Given the description of an element on the screen output the (x, y) to click on. 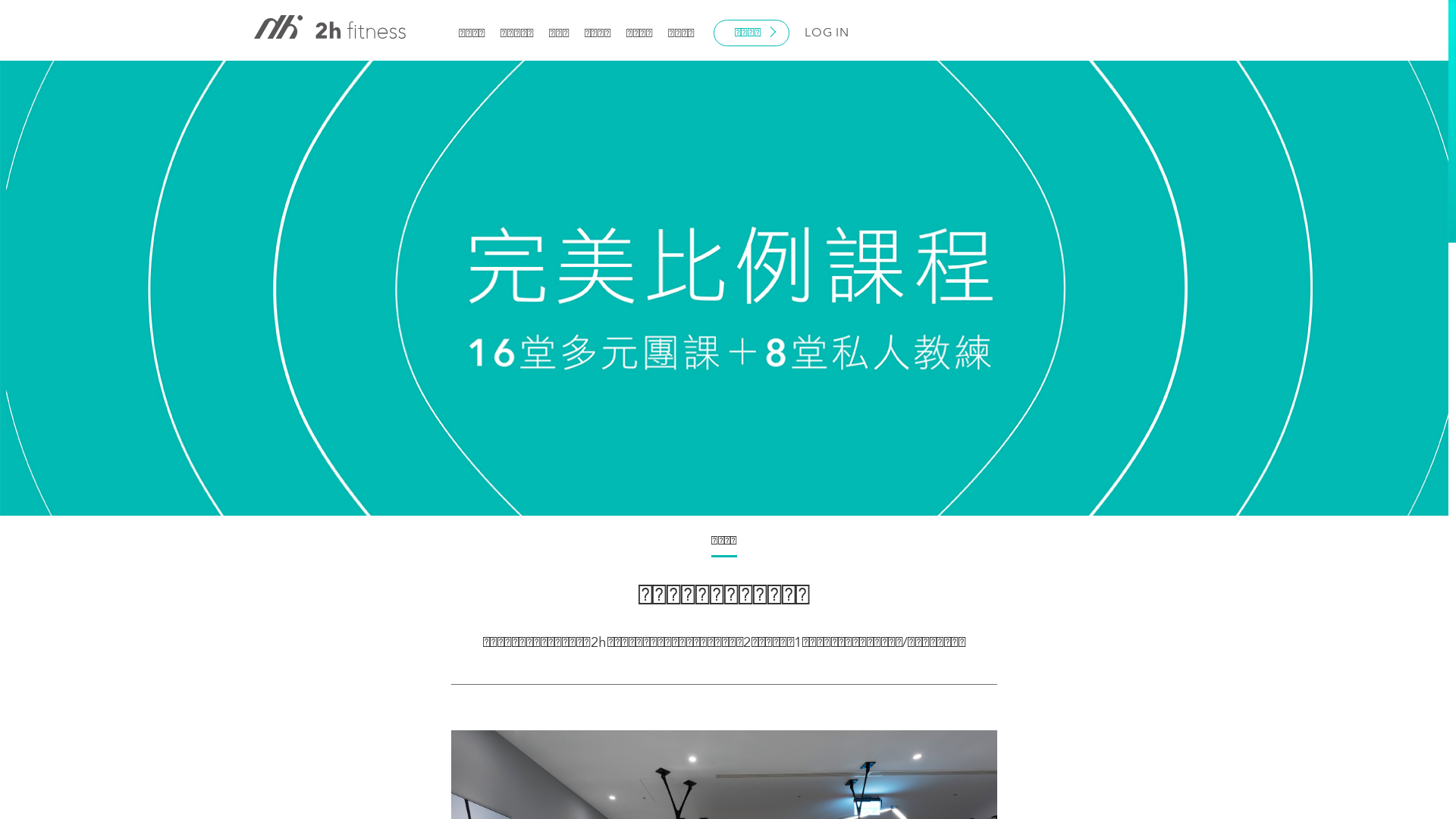
LOG IN Element type: text (826, 32)
